Given the description of an element on the screen output the (x, y) to click on. 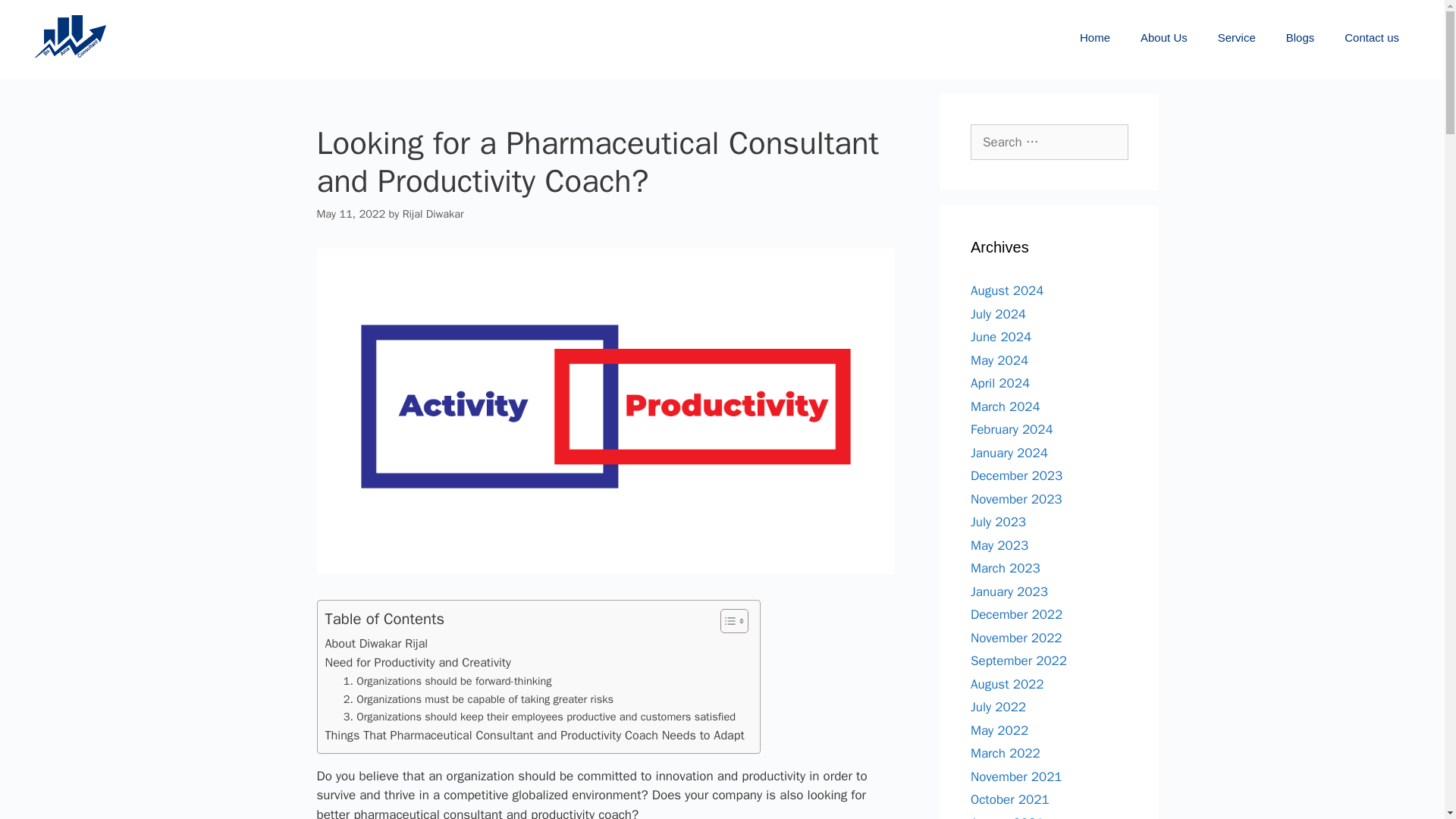
Contact us (1371, 37)
2. Organizations must be capable of taking greater risks (477, 698)
Search for: (1049, 142)
About Diwakar Rijal (376, 643)
Blogs (1300, 37)
Need for Productivity and Creativity (417, 662)
Need for Productivity and Creativity (417, 662)
Rijal Diwakar (433, 213)
